Given the description of an element on the screen output the (x, y) to click on. 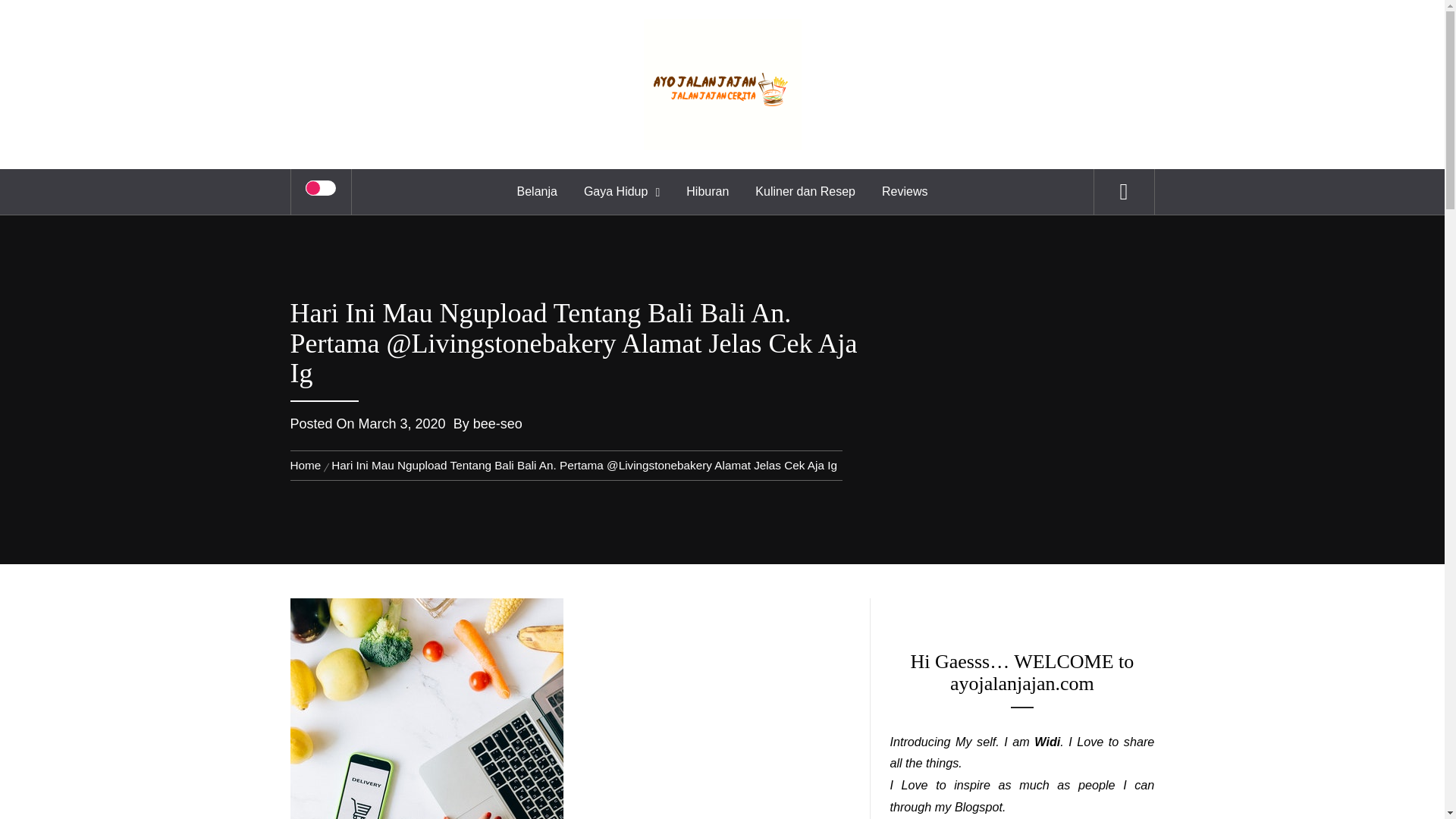
Ayo Jalan Jajan (722, 41)
Kuliner dan Resep (805, 191)
Search (797, 33)
bee-seo (497, 423)
Gaya Hidup (621, 191)
Belanja (537, 191)
Reviews (904, 191)
Hiburan (707, 191)
Home (307, 464)
March 3, 2020 (401, 423)
